Given the description of an element on the screen output the (x, y) to click on. 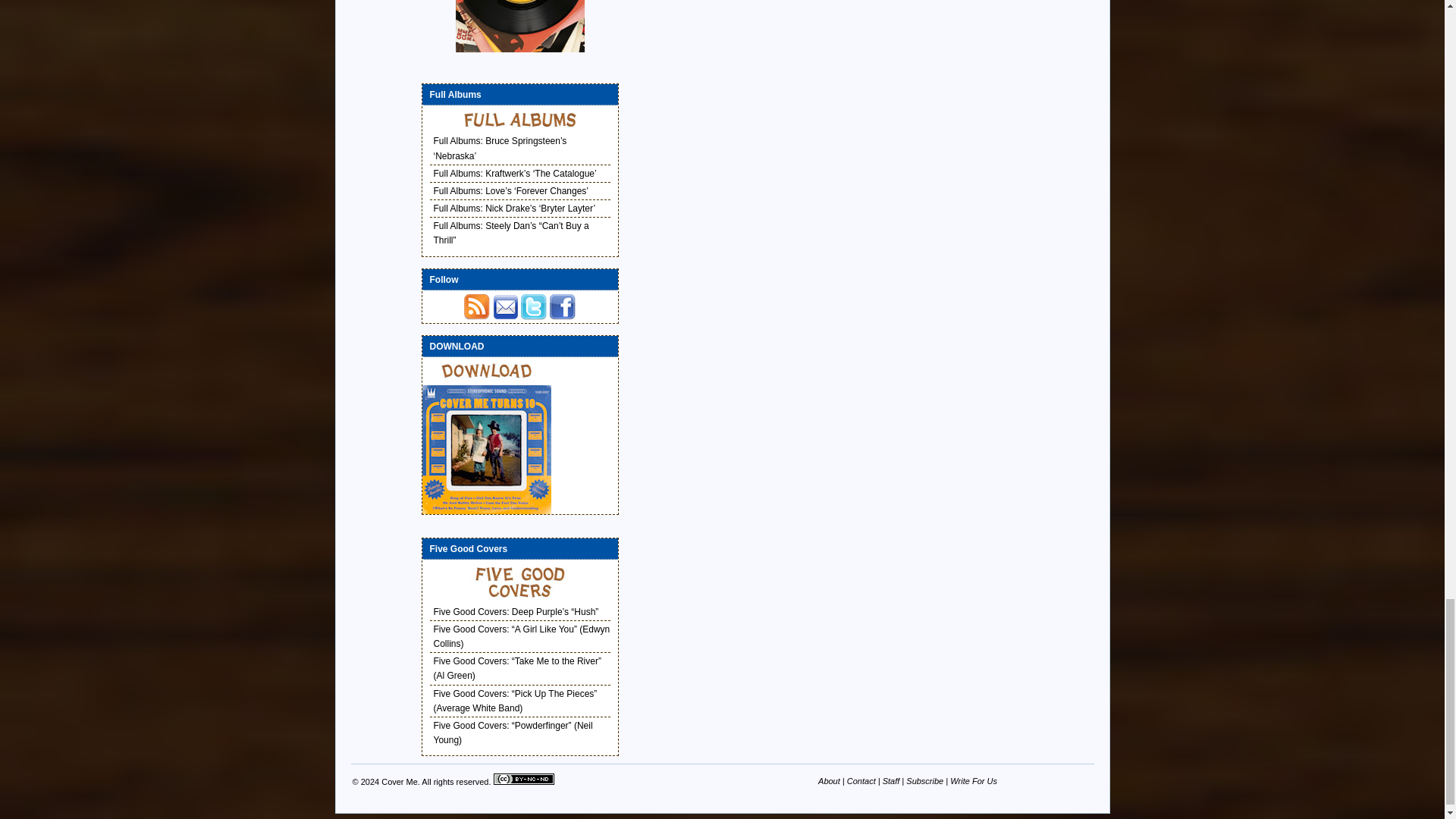
Full Albums (520, 119)
Five Good Covers (520, 582)
